Given the description of an element on the screen output the (x, y) to click on. 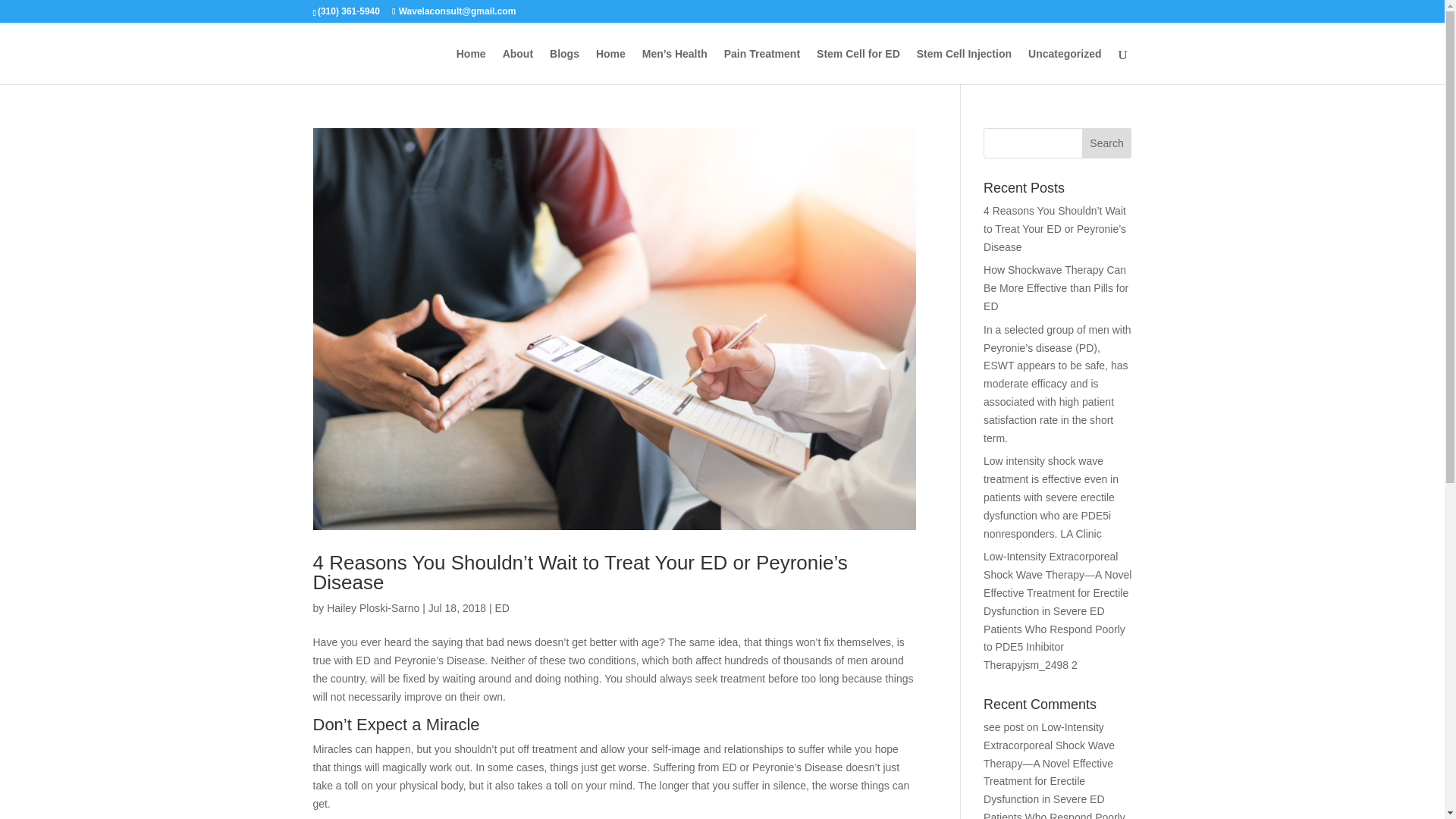
Pain Treatment (761, 66)
Uncategorized (1063, 66)
Stem Cell for ED (857, 66)
ED (501, 607)
Posts by Hailey Ploski-Sarno (372, 607)
Hailey Ploski-Sarno (372, 607)
Stem Cell Injection (964, 66)
Search (1106, 142)
Search (1106, 142)
